Given the description of an element on the screen output the (x, y) to click on. 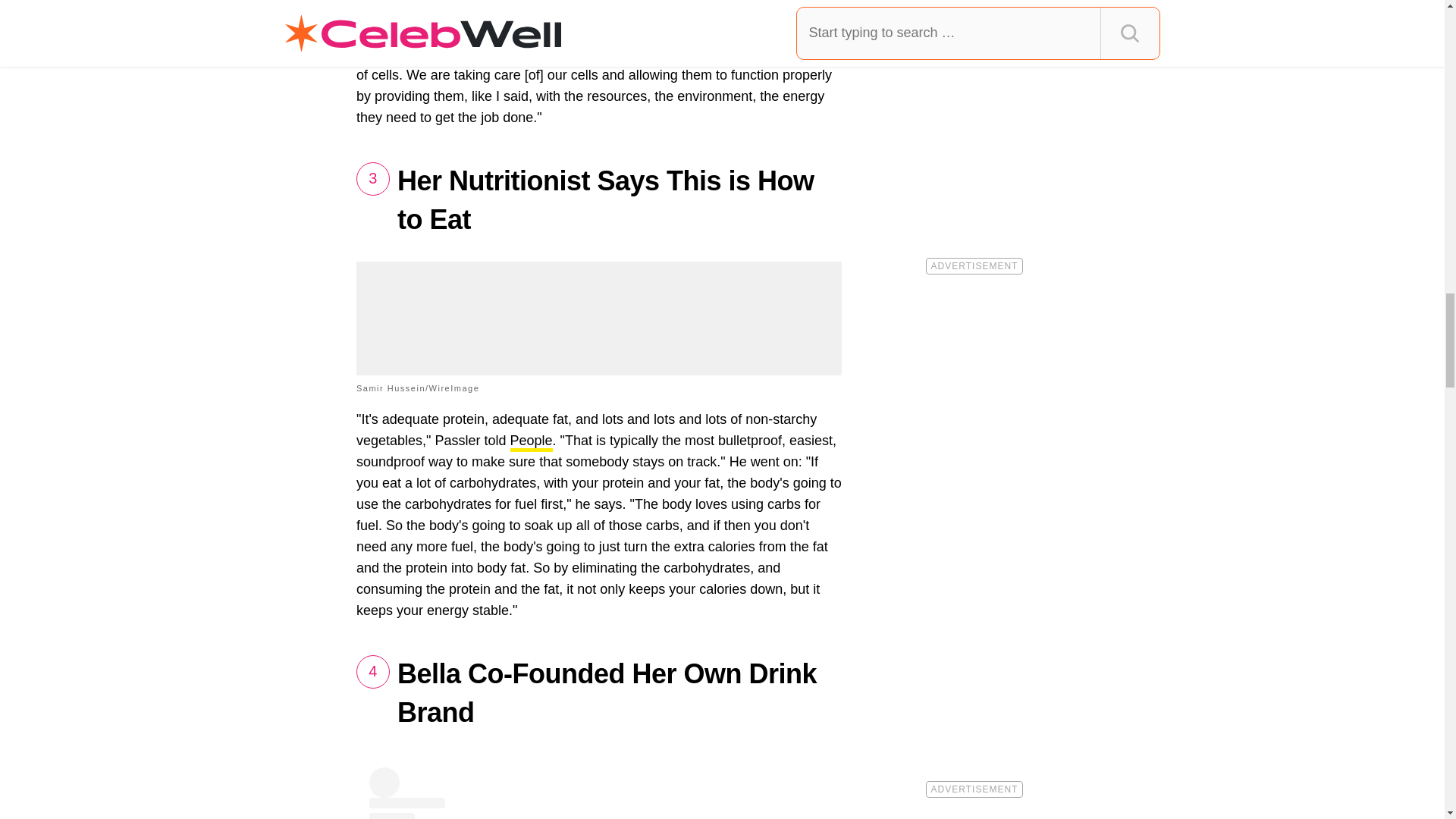
Coveteur (411, 55)
Charles Passler (572, 34)
View this post on Instagram (598, 793)
People (530, 442)
